Given the description of an element on the screen output the (x, y) to click on. 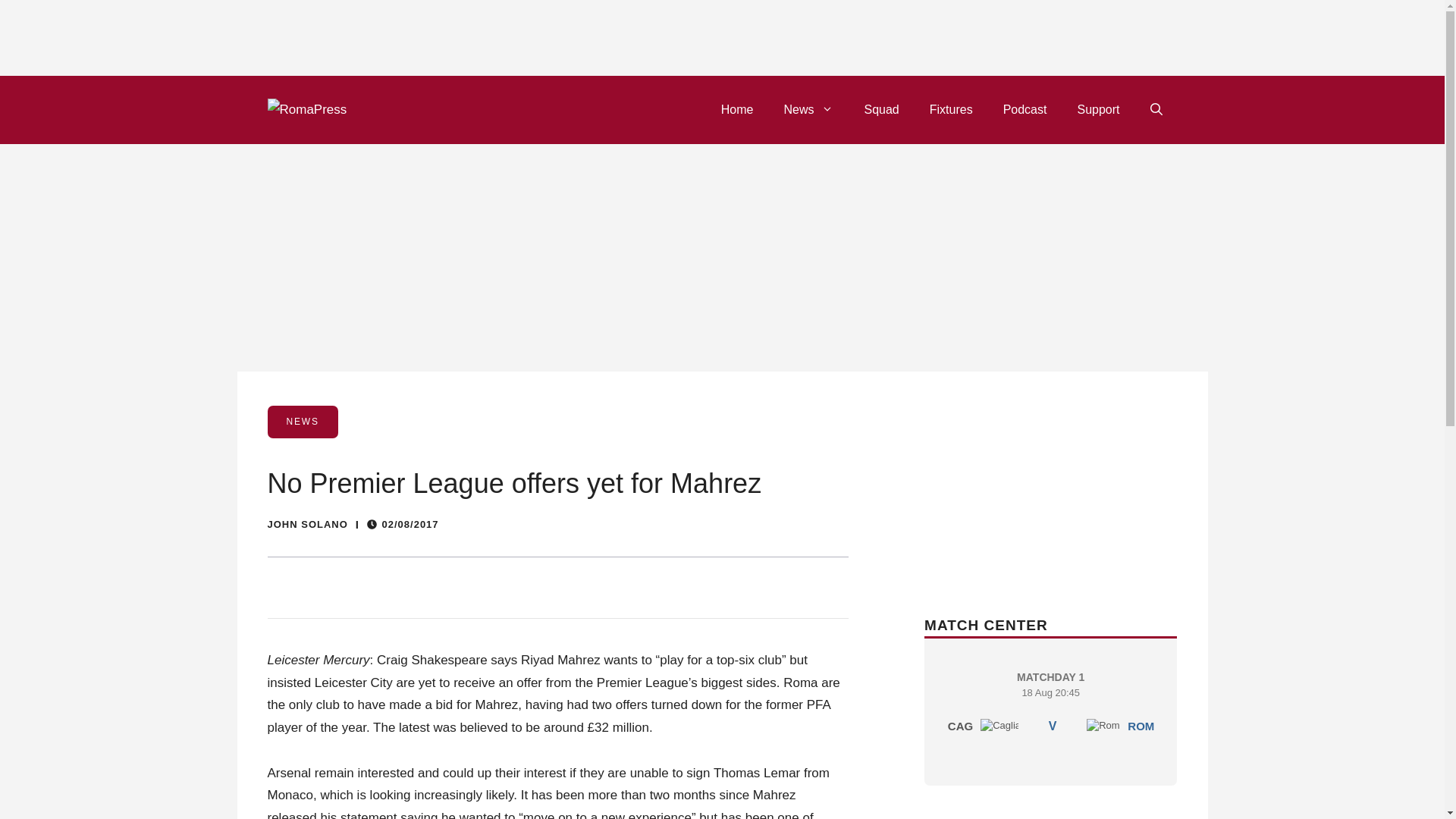
ROM (1140, 725)
Squad (1050, 707)
Support (881, 109)
Roma (1097, 109)
Podcast (1102, 725)
Fixtures (1025, 109)
News (951, 109)
Home (808, 109)
Cagliari (737, 109)
